Given the description of an element on the screen output the (x, y) to click on. 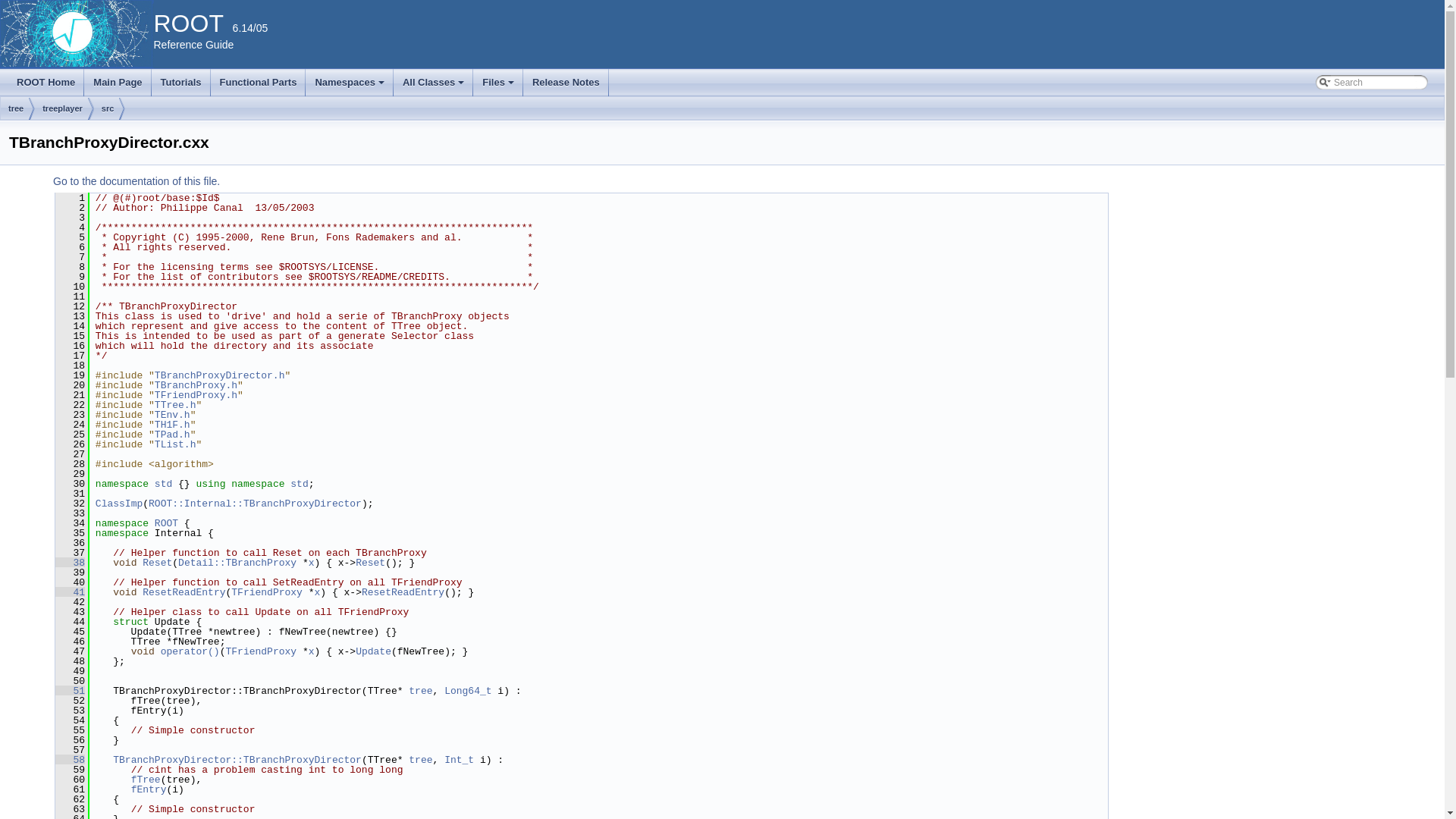
fTree Element type: text (145, 779)
TFriendProxy Element type: text (260, 651)
TEnv.h Element type: text (172, 414)
Reset Element type: text (157, 562)
Int_t Element type: text (458, 759)
Tutorials Element type: text (180, 82)
tree Element type: text (420, 690)
ResetReadEntry Element type: text (183, 592)
   51 Element type: text (69, 690)
ROOT Element type: text (166, 523)
std Element type: text (298, 483)
x Element type: text (311, 562)
fEntry Element type: text (148, 789)
tree Element type: text (15, 109)
tree Element type: text (420, 759)
ResetReadEntry Element type: text (402, 592)
TPad.h Element type: text (172, 434)
std Element type: text (163, 483)
operator() Element type: text (189, 651)
   38 Element type: text (69, 562)
+
All Classes Element type: text (433, 82)
Reset Element type: text (370, 562)
+
Namespaces Element type: text (349, 82)
Detail::TBranchProxy Element type: text (237, 562)
Main Page Element type: text (117, 82)
x Element type: text (311, 651)
   58 Element type: text (69, 759)
TBranchProxy.h Element type: text (195, 385)
TH1F.h Element type: text (172, 424)
ClassImp Element type: text (118, 503)
treeplayer Element type: text (62, 109)
TTree.h Element type: text (175, 405)
TBranchProxyDirector::TBranchProxyDirector Element type: text (236, 759)
TFriendProxy.h Element type: text (195, 395)
ROOT::Internal::TBranchProxyDirector Element type: text (254, 503)
TList.h Element type: text (175, 444)
Release Notes Element type: text (565, 82)
+
Files Element type: text (498, 82)
TBranchProxyDirector.h Element type: text (219, 375)
src Element type: text (107, 109)
Functional Parts Element type: text (258, 82)
TFriendProxy Element type: text (266, 592)
x Element type: text (317, 592)
ROOT Home Element type: text (45, 82)
Go to the documentation of this file. Element type: text (136, 181)
Long64_t Element type: text (467, 690)
   41 Element type: text (69, 592)
Update Element type: text (373, 651)
